Given the description of an element on the screen output the (x, y) to click on. 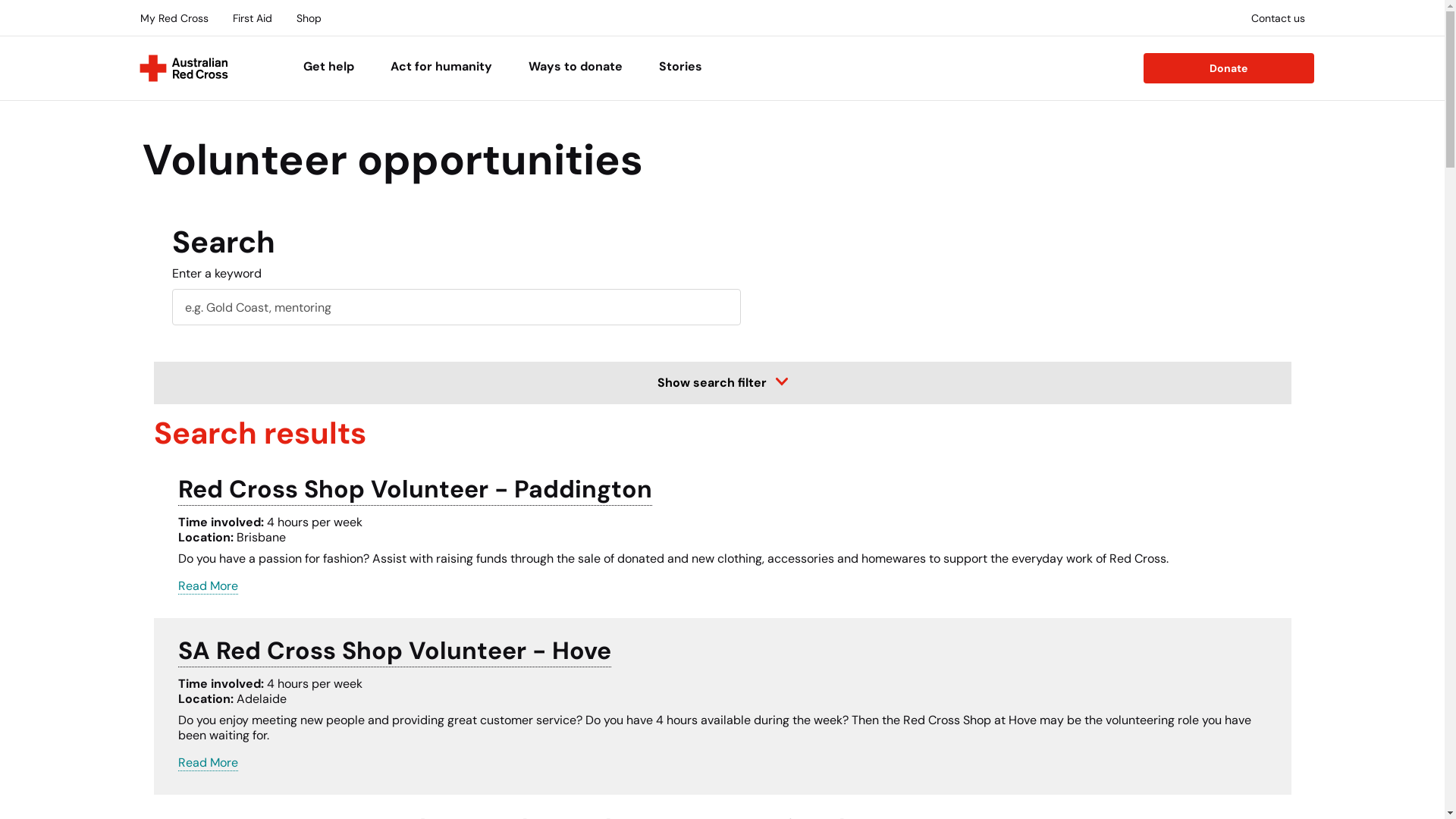
Stories Element type: text (680, 68)
SA Red Cross Shop Volunteer - Hove Element type: text (393, 650)
Act for humanity Element type: text (441, 68)
First Aid Element type: text (251, 17)
Contact us Element type: text (1278, 17)
Get help Element type: text (328, 68)
Red Cross Shop Volunteer - Paddington Element type: text (414, 489)
Show search filter Element type: text (721, 382)
Read More Element type: text (207, 585)
Read More Element type: text (207, 762)
Shop Element type: text (307, 17)
Donate Element type: text (1228, 68)
My Red Cross Element type: text (173, 17)
Ways to donate Element type: text (575, 68)
